Given the description of an element on the screen output the (x, y) to click on. 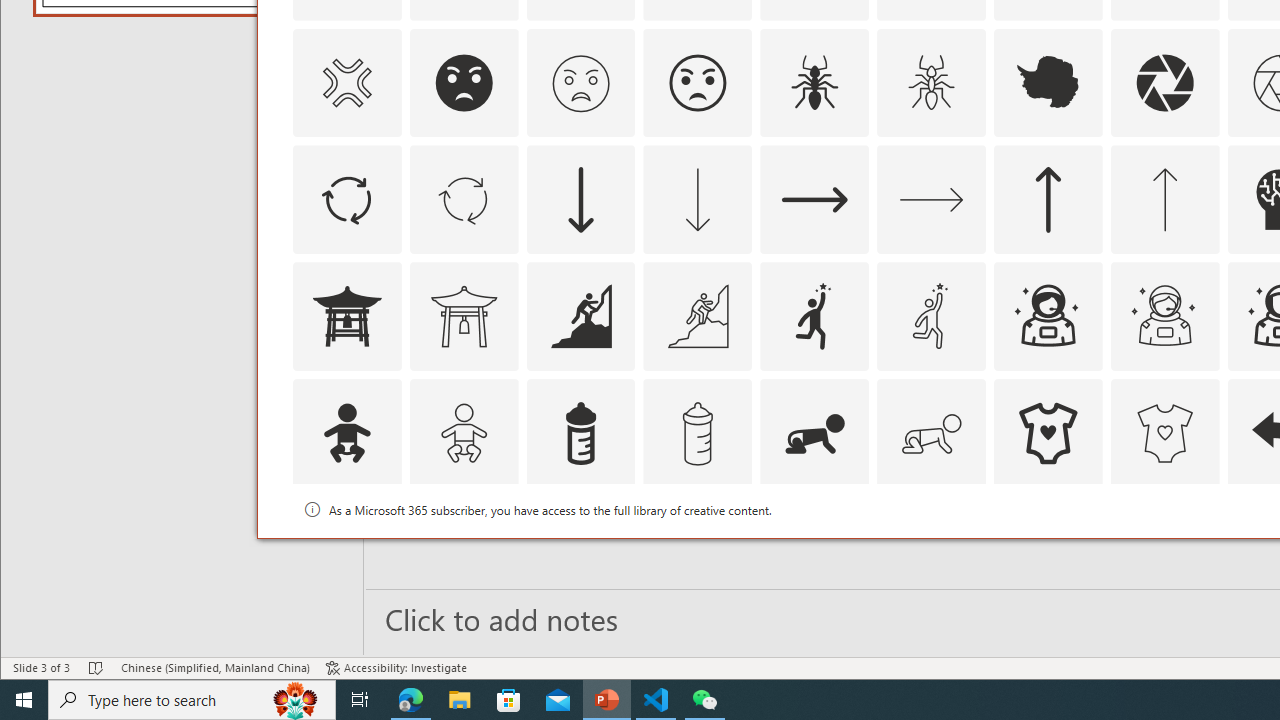
Microsoft Edge - 1 running window (411, 699)
AutomationID: Icons_Aspiration1 (815, 316)
AutomationID: Icons_Badge2_M (580, 550)
AutomationID: Icons_Aspiration_M (697, 316)
AutomationID: Icons_BabyOnesie (1048, 434)
AutomationID: Icons_AstronautFemale_M (1164, 316)
AutomationID: Icons_ArrowRight_M (931, 200)
AutomationID: Icons_Aperture (1164, 82)
